Given the description of an element on the screen output the (x, y) to click on. 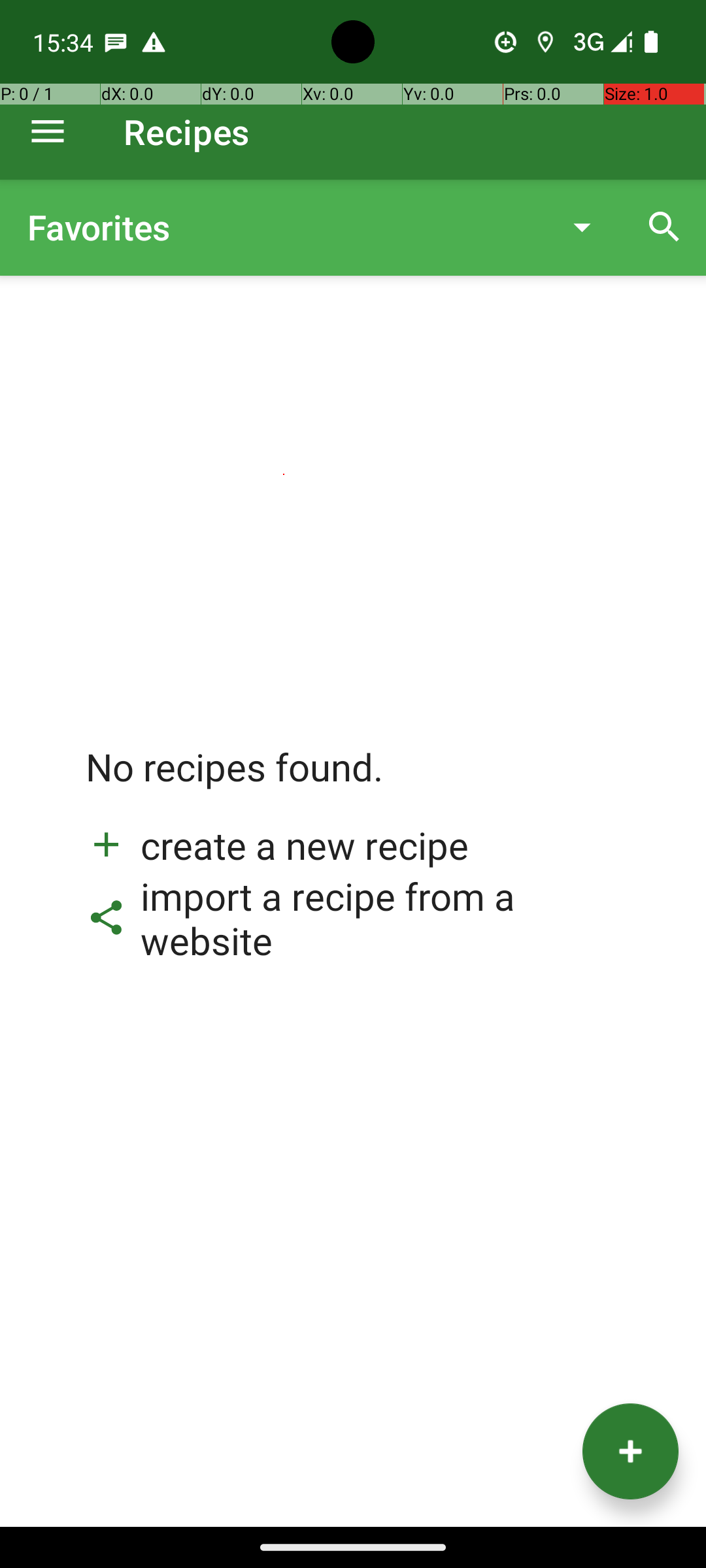
No recipes found. Element type: android.widget.TextView (234, 779)
create a new recipe Element type: android.widget.TextView (276, 844)
import a recipe from a website Element type: android.widget.TextView (352, 917)
